Given the description of an element on the screen output the (x, y) to click on. 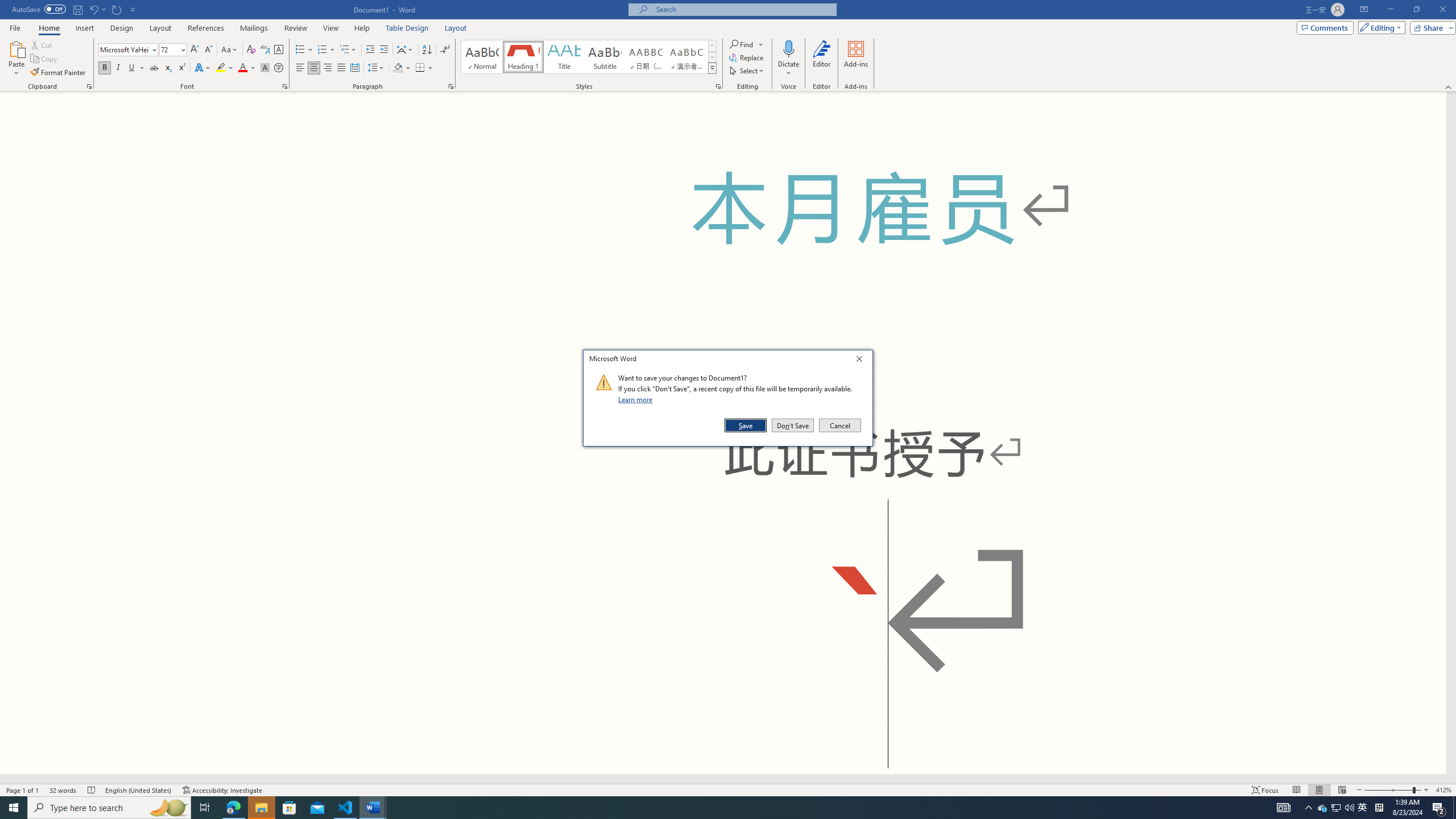
Page Number Page 1 of 1 (22, 790)
Word Count 32 words (63, 790)
